Given the description of an element on the screen output the (x, y) to click on. 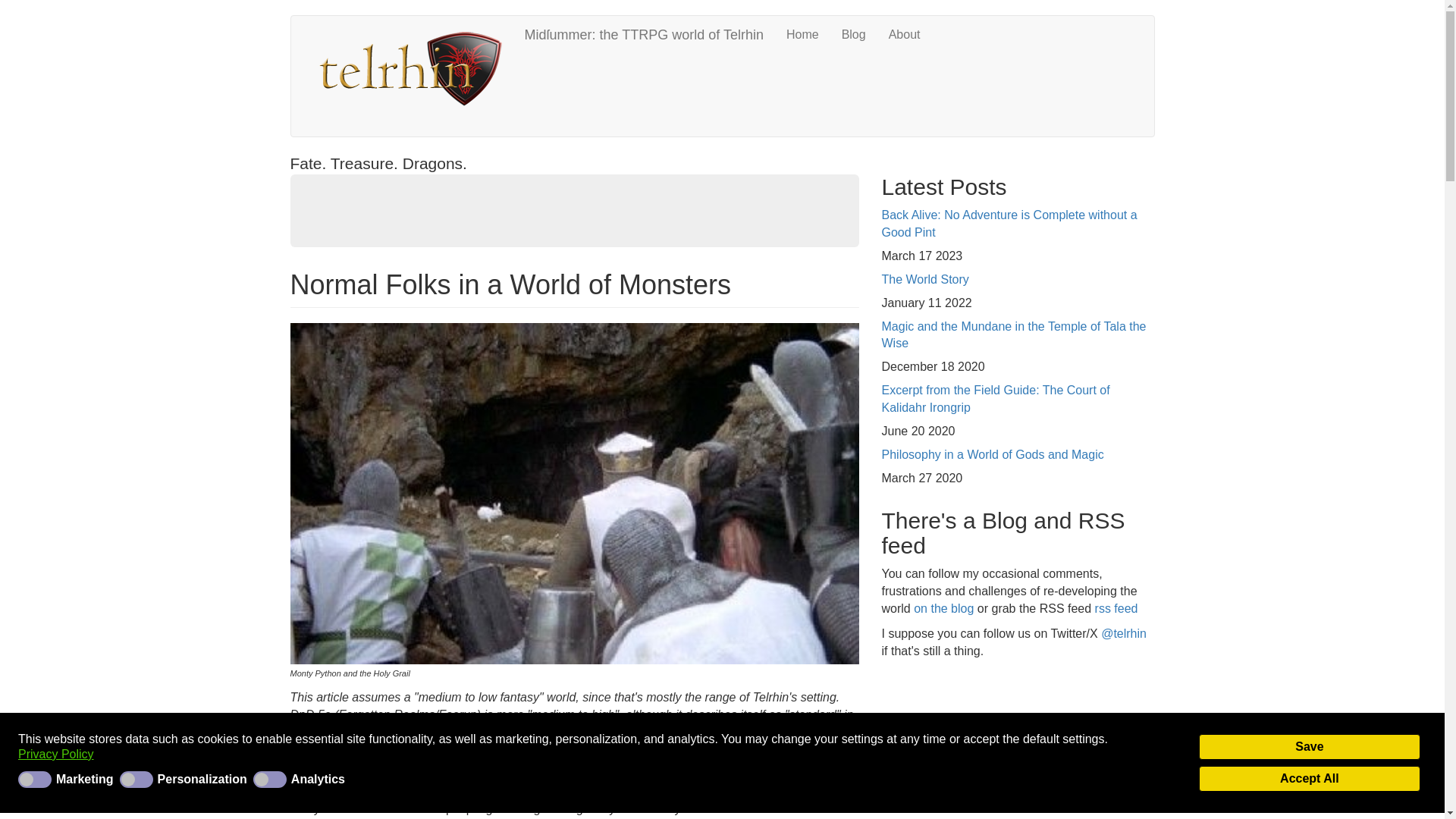
Home (412, 69)
Magic and the Mundane in the Temple of Tala the Wise (1012, 335)
Philosophy in a World of Gods and Magic (991, 454)
Home (643, 34)
About (904, 34)
Home (801, 34)
"mana" scale here (554, 748)
The World Story (924, 278)
Site news and updates for Telrhin.com (853, 34)
Home (801, 34)
Excerpt from the Field Guide: The Court of Kalidahr Irongrip (994, 399)
Blog (853, 34)
Accept All (1309, 778)
Save (1309, 746)
